Given the description of an element on the screen output the (x, y) to click on. 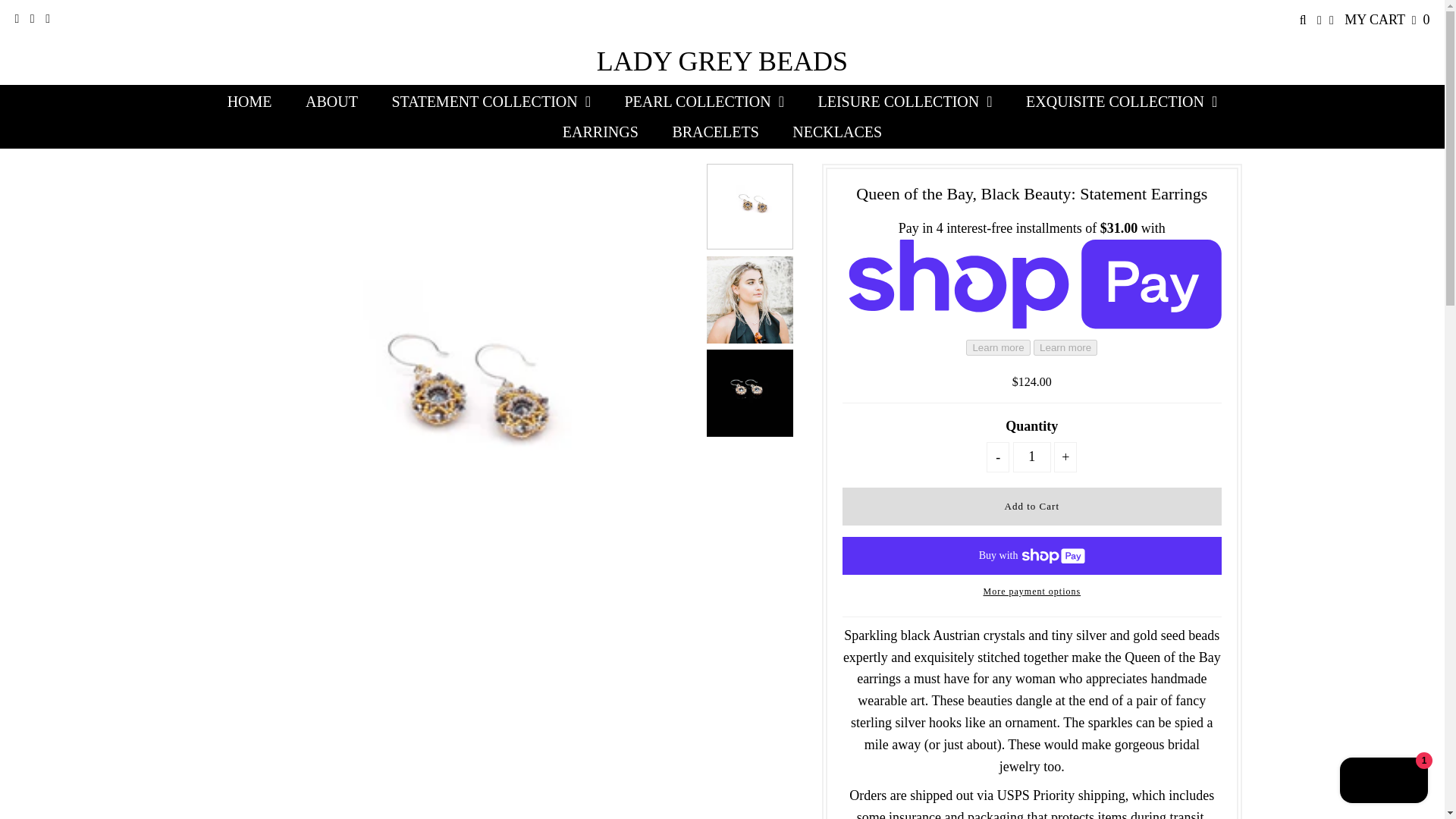
HOME (249, 101)
Add to Cart (1032, 506)
ABOUT (330, 101)
1 (1032, 457)
STATEMENT COLLECTION (490, 101)
MY CART    0 (1386, 19)
PEARL COLLECTION (704, 101)
LEISURE COLLECTION (904, 101)
Shopify online store chat (1383, 781)
LADY GREY BEADS (721, 60)
